Given the description of an element on the screen output the (x, y) to click on. 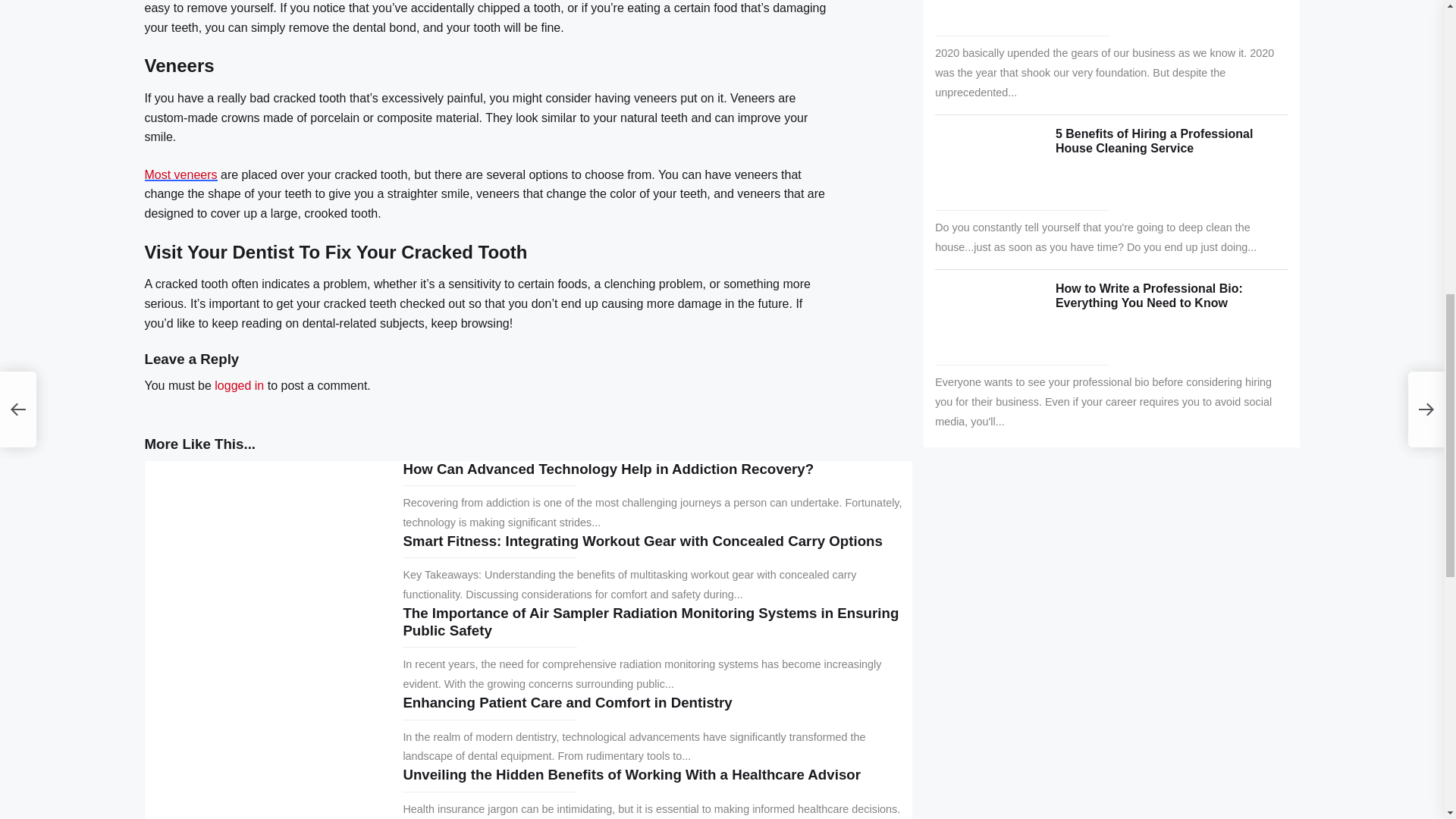
How to Write a Professional Bio: Everything You Need to Know (1149, 295)
logged in (238, 385)
5 Benefits of Hiring a Professional House Cleaning Service (1154, 140)
Most veneers (180, 174)
How Can Advanced Technology Help in Addiction Recovery? (608, 468)
Enhancing Patient Care and Comfort in Dentistry (567, 702)
